Given the description of an element on the screen output the (x, y) to click on. 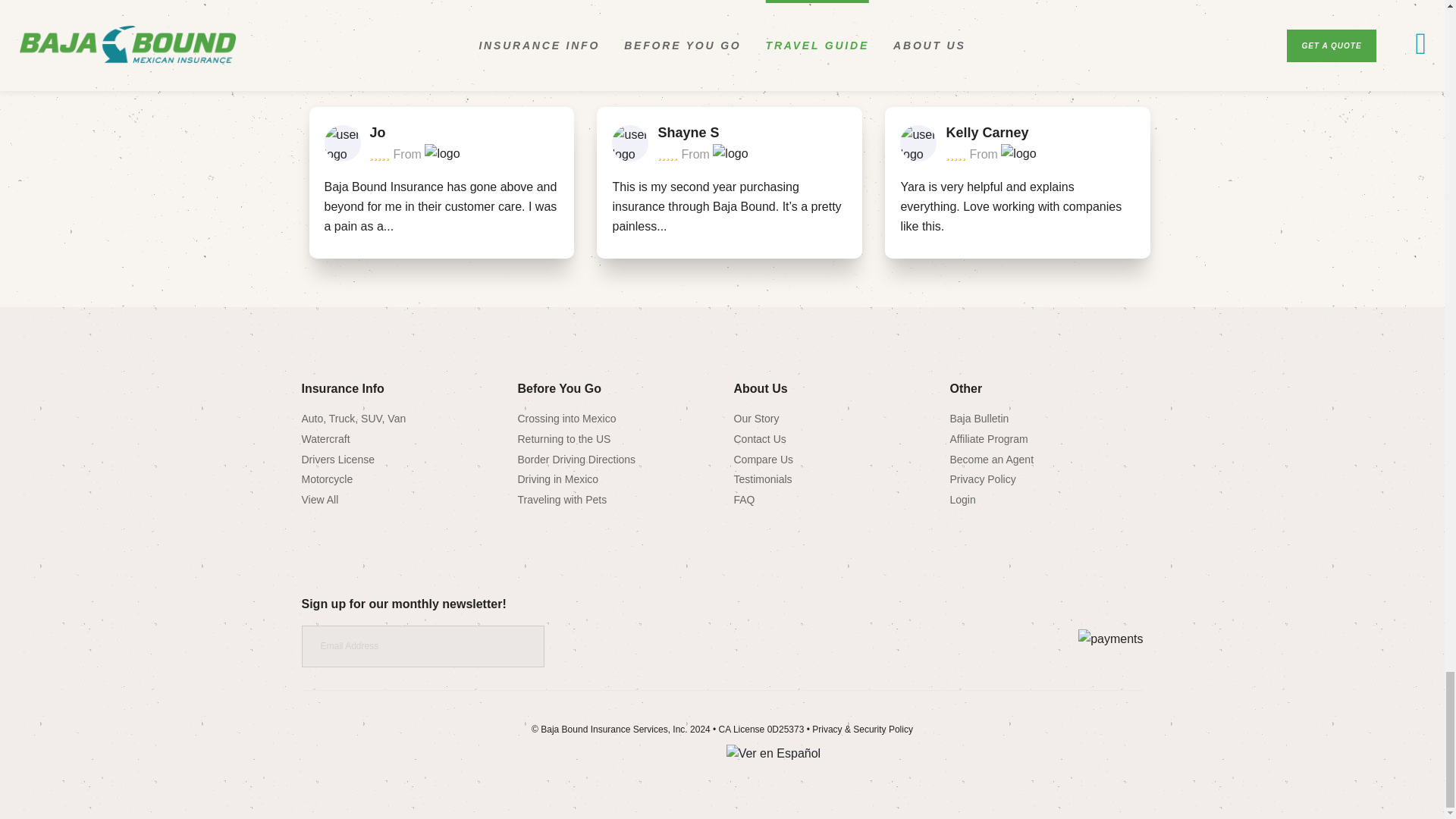
Crossing into Mexico (565, 418)
View All (320, 499)
Watercraft (325, 438)
Motorcycle (327, 479)
Before You Go (558, 388)
... (661, 226)
Drivers License (337, 459)
Auto, Truck, SUV, Van (353, 418)
... (388, 226)
Write a review (745, 23)
Insurance Info (342, 388)
